Given the description of an element on the screen output the (x, y) to click on. 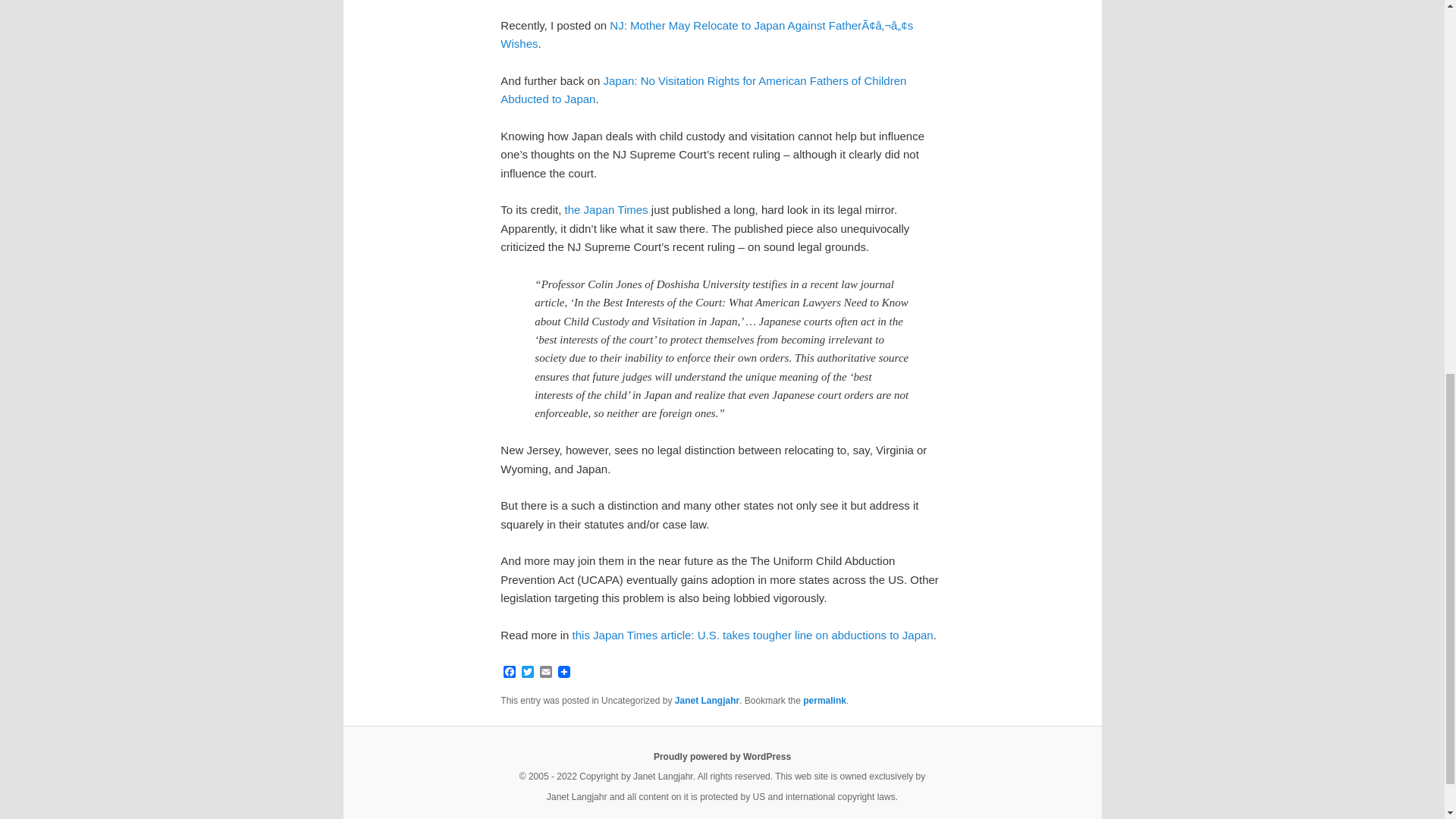
Facebook (509, 672)
Facebook (509, 672)
the Japan Times (605, 209)
Janet Langjahr (707, 700)
Email (545, 672)
Twitter (527, 672)
Semantic Personal Publishing Platform (721, 756)
Proudly powered by WordPress (721, 756)
Email (545, 672)
permalink (824, 700)
Twitter (527, 672)
